Given the description of an element on the screen output the (x, y) to click on. 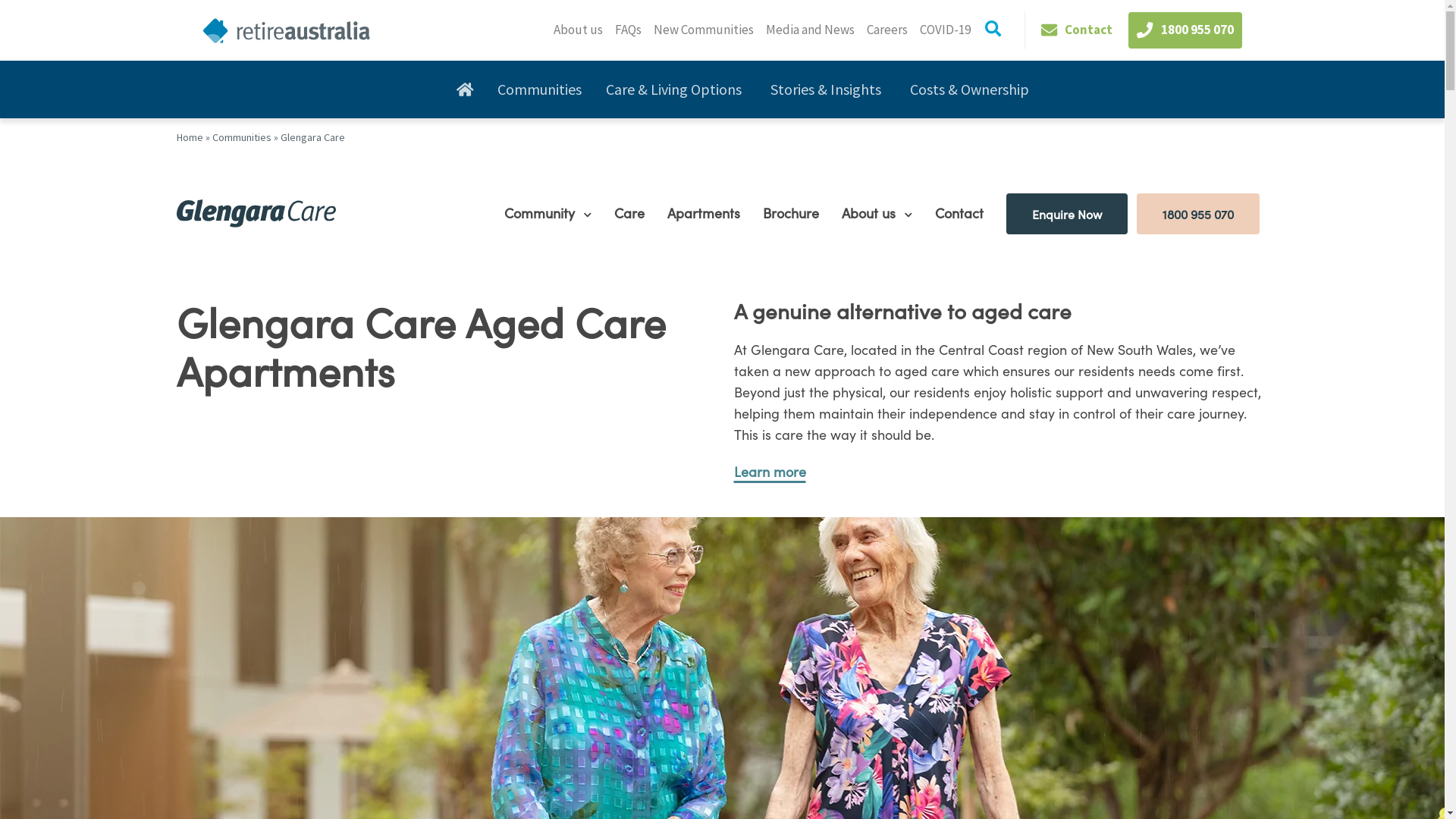
Communities Element type: text (241, 137)
Care Element type: text (629, 212)
Apartments Element type: text (703, 212)
Contact Element type: text (1076, 30)
FAQs Element type: text (627, 30)
New Communities Element type: text (703, 30)
Community Element type: text (541, 212)
Media and News Element type: text (809, 30)
Enquire Now Element type: text (1065, 212)
COVID-19 Element type: text (944, 30)
1800 955 070 Element type: text (1196, 212)
Learn more Element type: text (770, 470)
Home Element type: text (188, 137)
Brochure Element type: text (790, 212)
Costs & Ownership Element type: text (971, 89)
Stories & Insights Element type: text (827, 89)
Careers Element type: text (886, 30)
Contact Element type: text (958, 212)
1800 955 070 Element type: text (1184, 30)
Care & Living Options Element type: text (675, 89)
Communities Element type: text (539, 89)
About us Element type: text (870, 212)
About us Element type: text (577, 30)
